Given the description of an element on the screen output the (x, y) to click on. 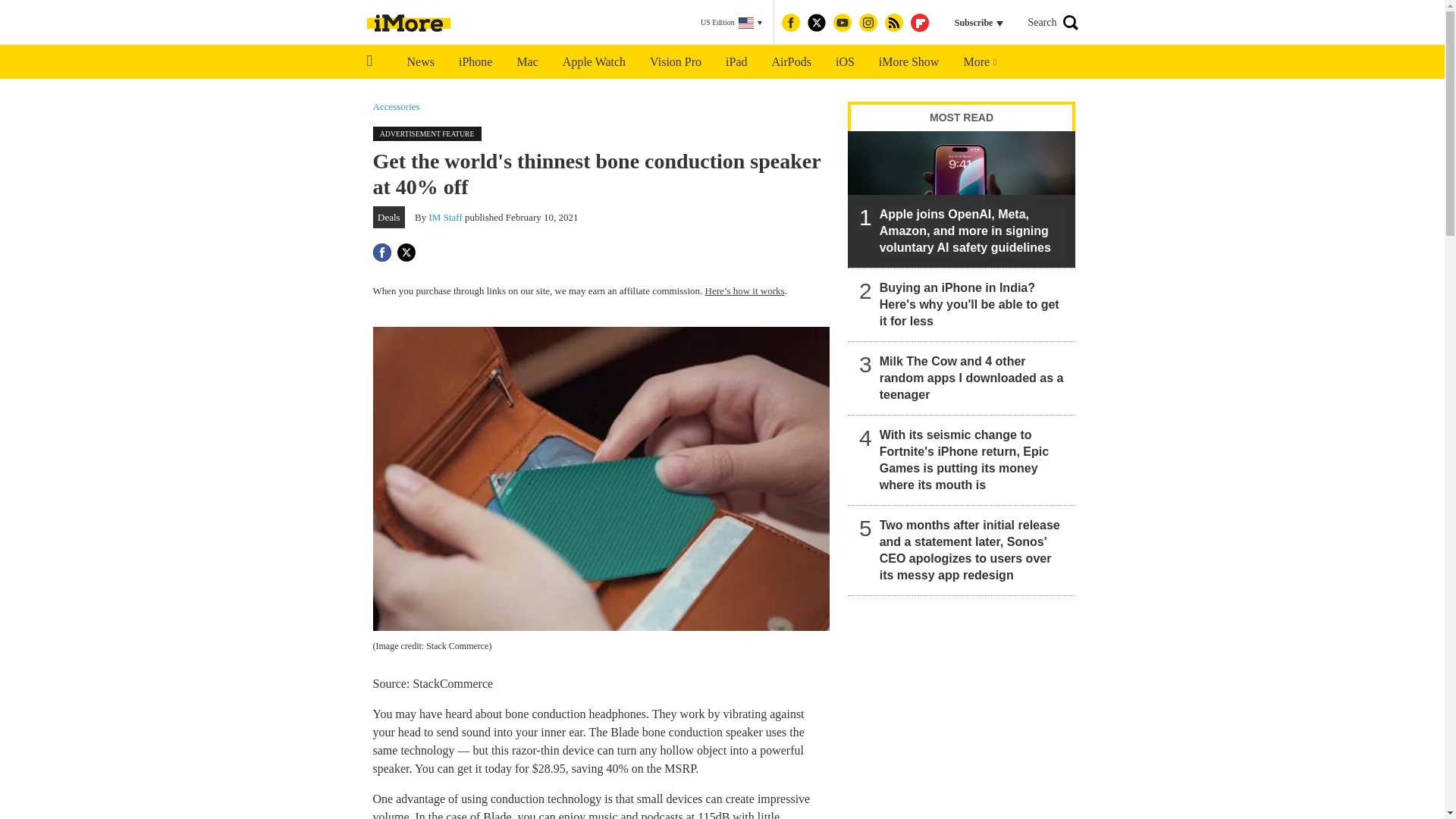
News (419, 61)
US Edition (731, 22)
AirPods (792, 61)
Vision Pro (675, 61)
Mac (526, 61)
iPhone (474, 61)
iOS (845, 61)
iPad (735, 61)
Apple Watch (593, 61)
iMore Show (909, 61)
